Given the description of an element on the screen output the (x, y) to click on. 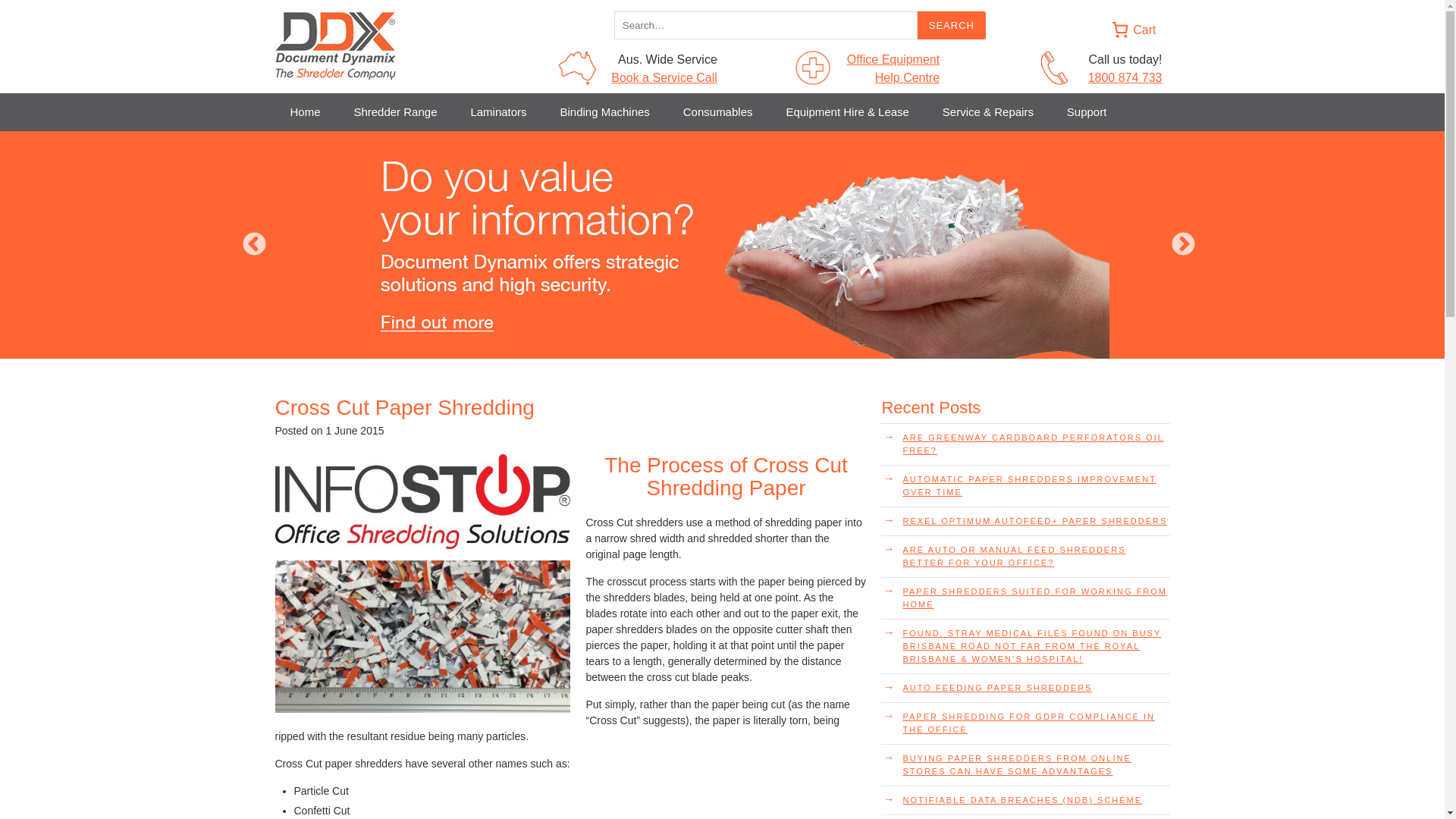
Support Element type: text (1086, 112)
PREVIOUS Element type: text (254, 245)
PAPER SHREDDING FOR GDPR COMPLIANCE IN THE OFFICE Element type: text (1025, 722)
Home Element type: text (304, 112)
Book a Service Call Element type: text (664, 77)
AUTO FEEDING PAPER SHREDDERS Element type: text (1025, 688)
NOTIFIABLE DATA BREACHES (NDB) SCHEME Element type: text (1025, 800)
PAPER SHREDDERS SUITED FOR WORKING FROM HOME Element type: text (1025, 597)
Office Equipment
Help Centre Element type: text (893, 68)
ARE GREENWAY CARDBOARD PERFORATORS OIL FREE? Element type: text (1025, 443)
Service & Repairs Element type: text (987, 112)
Shredder Range Element type: text (394, 112)
Equipment Hire & Lease Element type: text (847, 112)
ARE AUTO OR MANUAL FEED SHREDDERS BETTER FOR YOUR OFFICE? Element type: text (1025, 556)
Search Element type: text (951, 25)
Laminators Element type: text (498, 112)
NEXT Element type: text (1182, 245)
Binding Machines Element type: text (604, 112)
1800 874 733 Element type: text (1125, 77)
Consumables Element type: text (718, 112)
REXEL OPTIMUM AUTOFEED+ PAPER SHREDDERS Element type: text (1025, 521)
AUTOMATIC PAPER SHREDDERS IMPROVEMENT OVER TIME Element type: text (1025, 485)
